Given the description of an element on the screen output the (x, y) to click on. 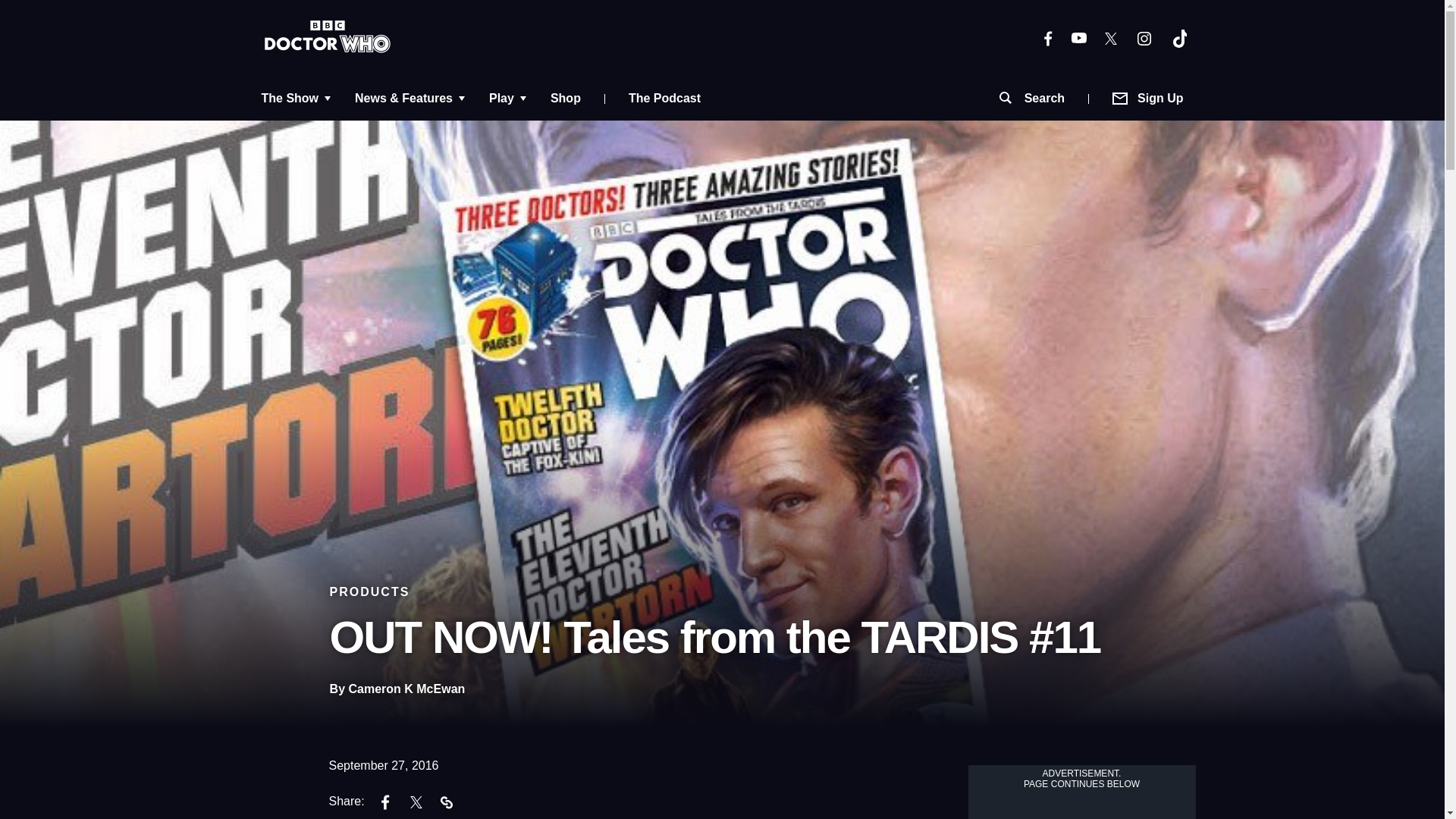
Youtube (1078, 38)
Share on Facebook (386, 803)
Search (1032, 98)
Instagram (1143, 37)
Shop (565, 98)
Sign Up (1147, 98)
Twitter (1109, 37)
Share on Twitter (415, 803)
The Podcast (664, 98)
